Given the description of an element on the screen output the (x, y) to click on. 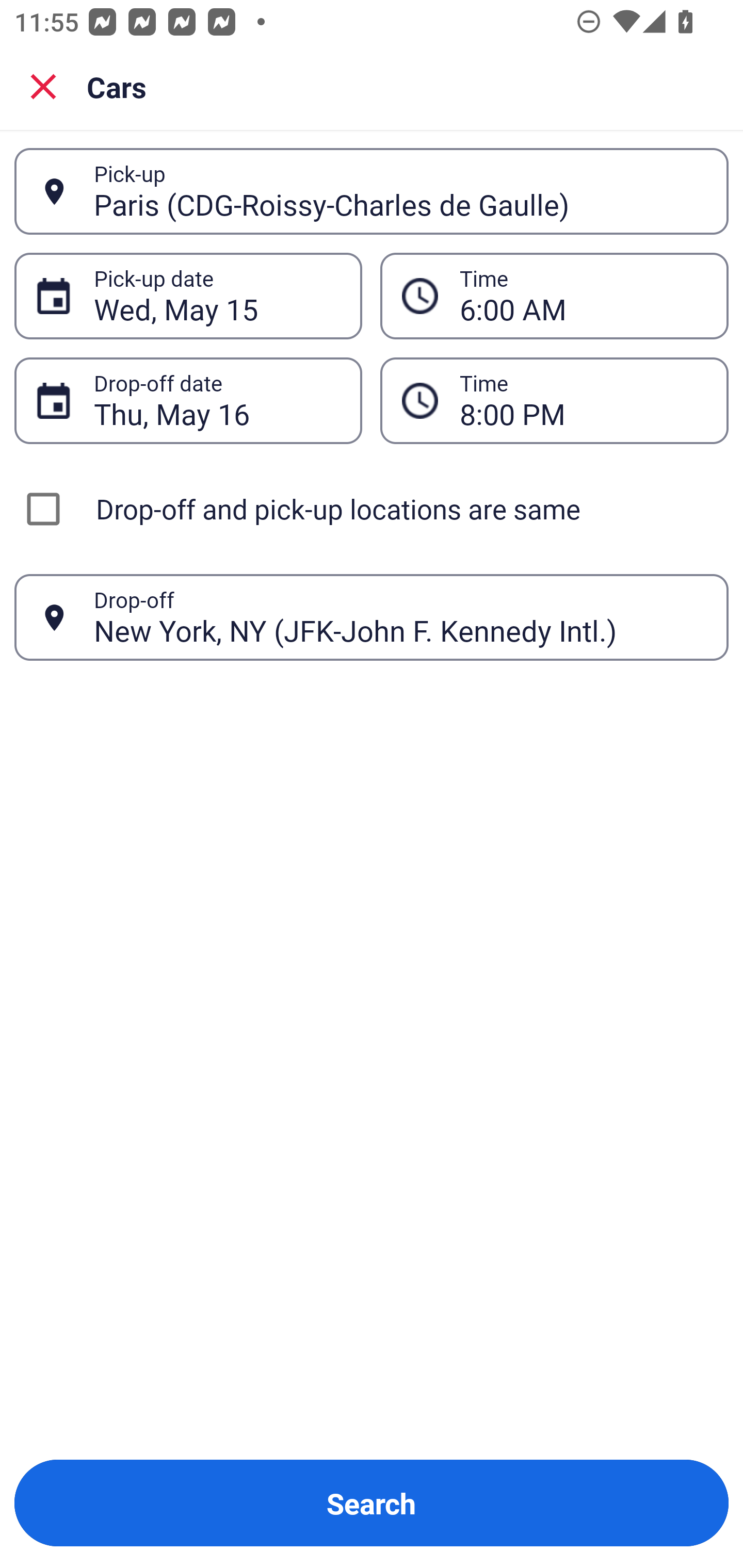
Close search screen (43, 86)
Paris (CDG-Roissy-Charles de Gaulle) Pick-up (371, 191)
Paris (CDG-Roissy-Charles de Gaulle) (399, 191)
Wed, May 15 Pick-up date (188, 295)
6:00 AM (554, 295)
Wed, May 15 (216, 296)
6:00 AM (582, 296)
Thu, May 16 Drop-off date (188, 400)
8:00 PM (554, 400)
Thu, May 16 (216, 400)
8:00 PM (582, 400)
Drop-off and pick-up locations are same (371, 508)
New York, NY (JFK-John F. Kennedy Intl.) Drop-off (371, 616)
New York, NY (JFK-John F. Kennedy Intl.) (399, 616)
Search Button Search (371, 1502)
